Given the description of an element on the screen output the (x, y) to click on. 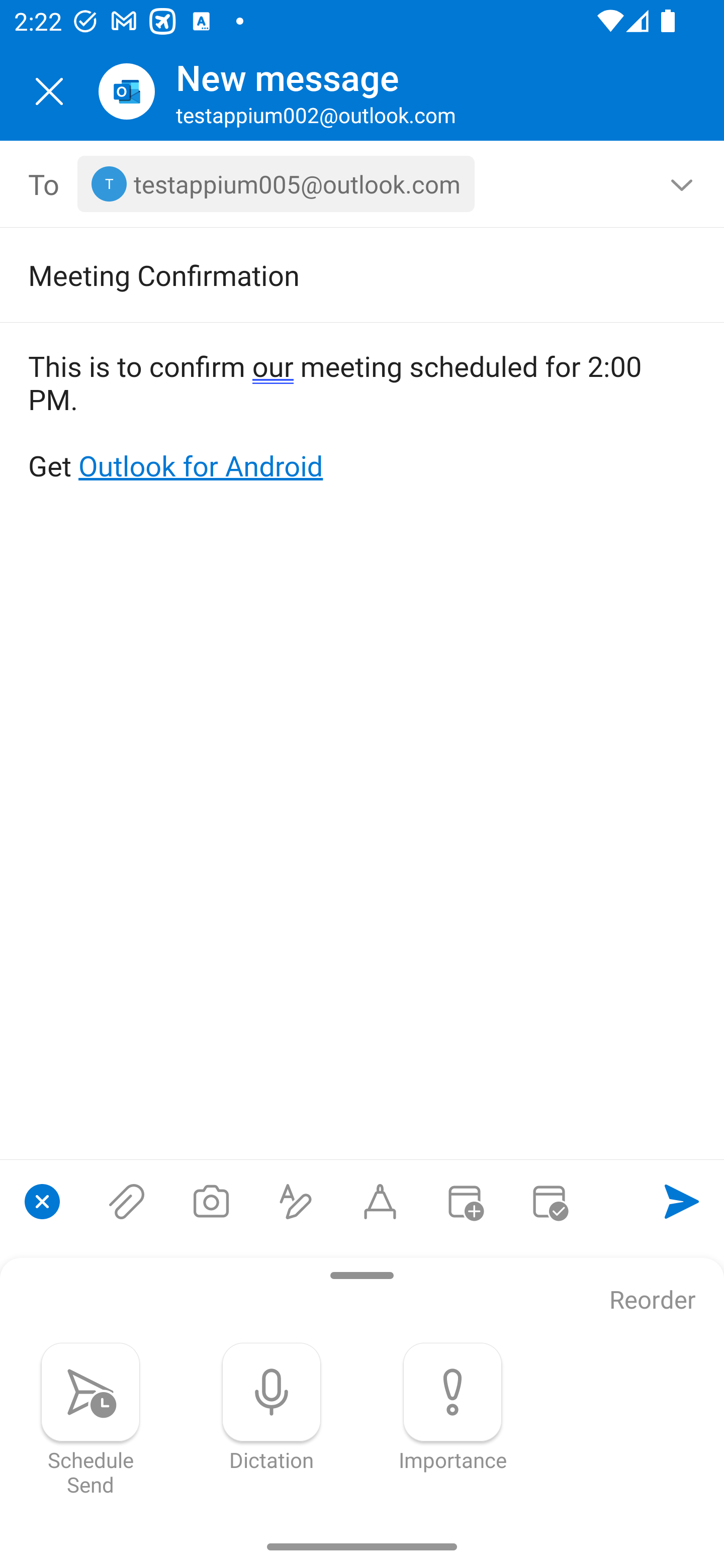
Close (49, 91)
Meeting Confirmation (333, 274)
Close compose options (42, 1200)
Attach files (126, 1200)
Take a photo (210, 1200)
Show formatting options (295, 1200)
Start Ink compose (380, 1200)
Convert to event (464, 1200)
Send availability (548, 1200)
Send (681, 1200)
Reorder (652, 1300)
Schedule Send (90, 1419)
Dictation (271, 1406)
Importance (452, 1406)
